Given the description of an element on the screen output the (x, y) to click on. 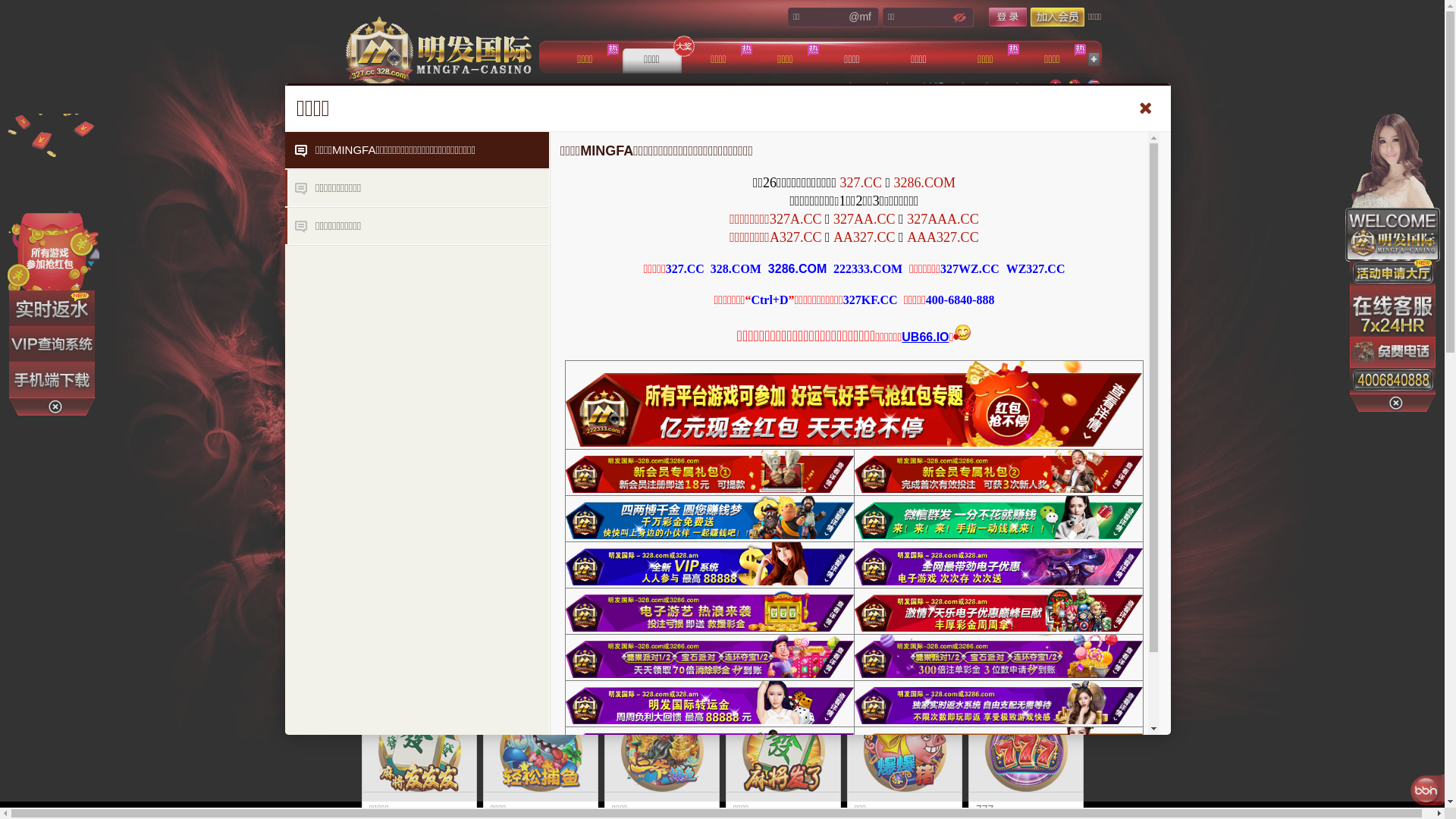
English Element type: hover (1092, 86)
327KF.CC Element type: text (870, 299)
UB66.IO Element type: text (924, 336)
